Given the description of an element on the screen output the (x, y) to click on. 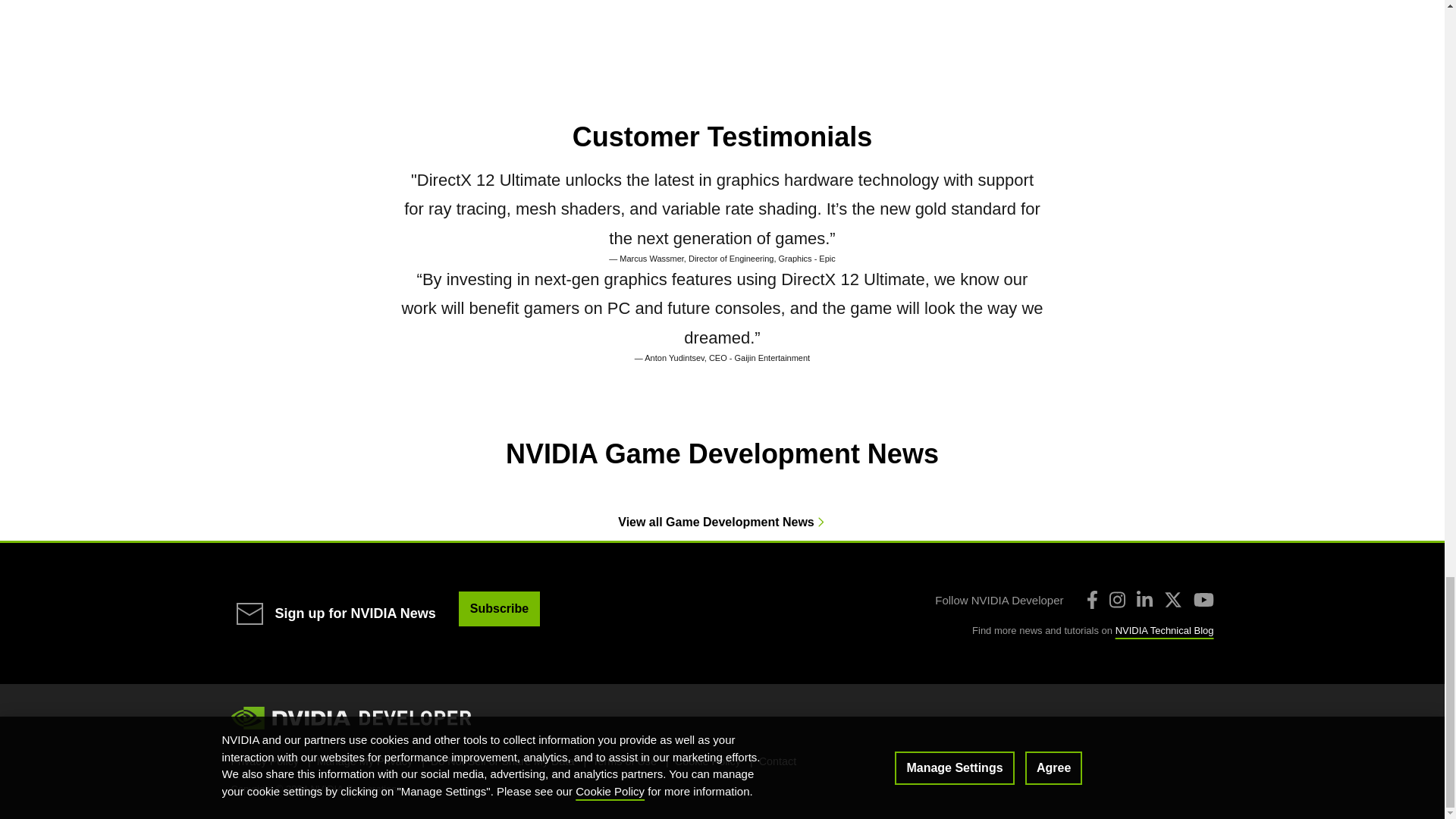
Twitter (1171, 599)
YouTube (1203, 599)
